Given the description of an element on the screen output the (x, y) to click on. 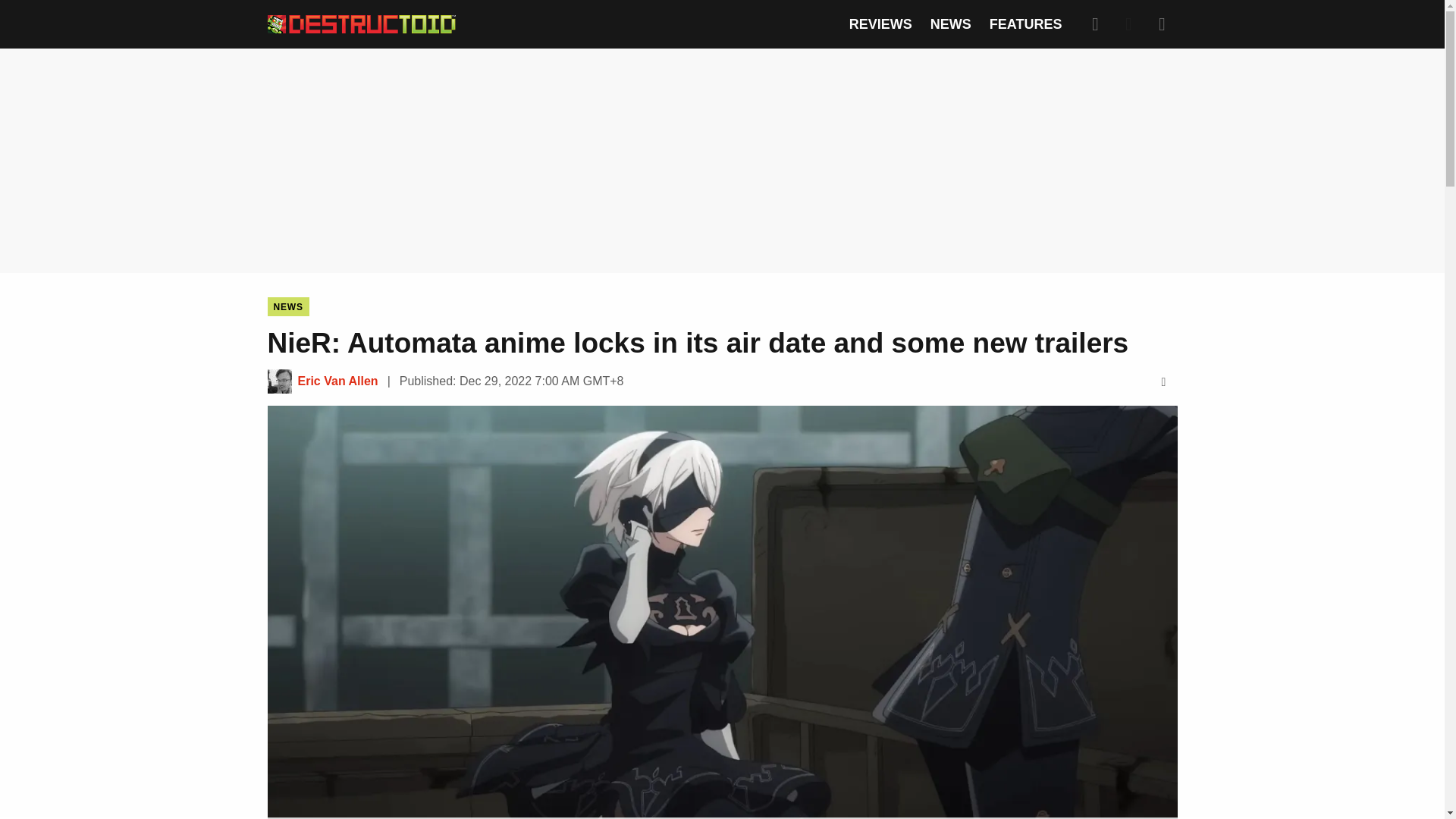
Dark Mode (1127, 24)
NEWS (950, 23)
Search (1094, 24)
Expand Menu (1161, 24)
NEWS (287, 306)
FEATURES (1026, 23)
REVIEWS (880, 23)
